Given the description of an element on the screen output the (x, y) to click on. 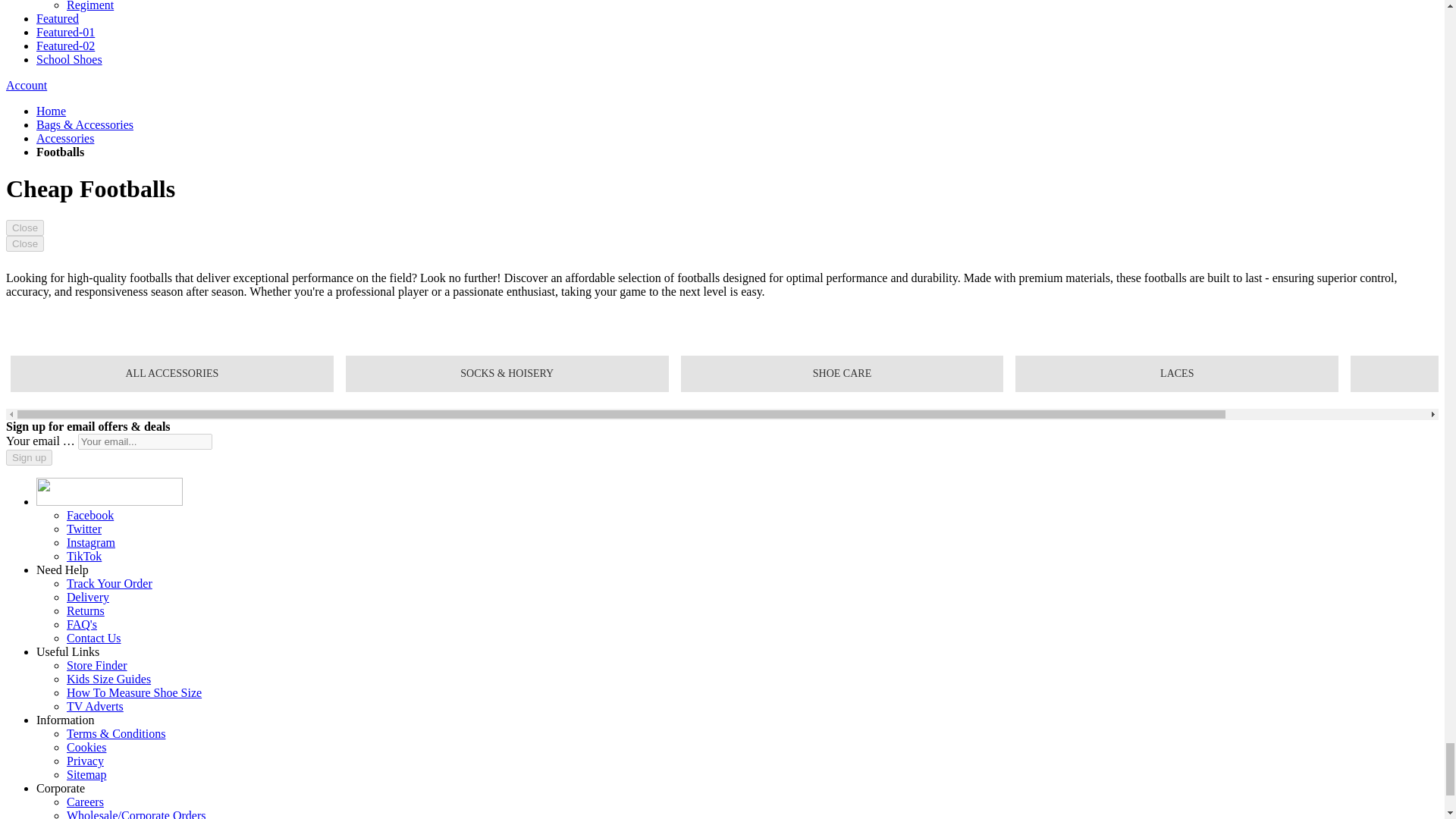
Sign up (28, 457)
Close (24, 227)
Close (24, 243)
Go to Home Page (50, 110)
